Given the description of an element on the screen output the (x, y) to click on. 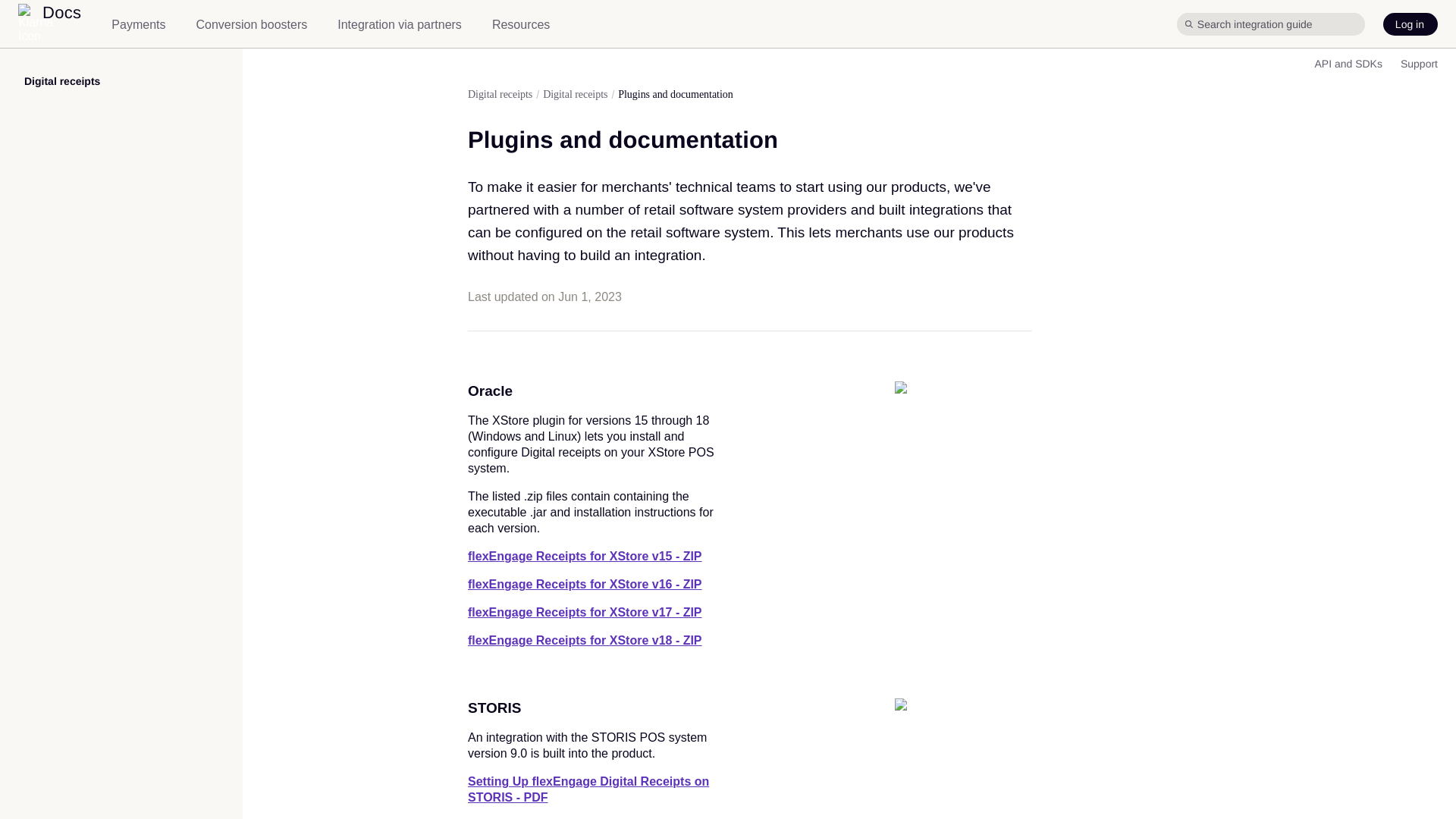
Integration via partners (399, 24)
Digital receipts (62, 80)
Log in (1410, 24)
Resources (521, 24)
Digital receipts (499, 94)
Conversion boosters (251, 24)
Support (1419, 63)
Plugins and documentation (674, 94)
Home (49, 24)
flexEngage Receipts for XStore v17 - ZIP (584, 612)
